Given the description of an element on the screen output the (x, y) to click on. 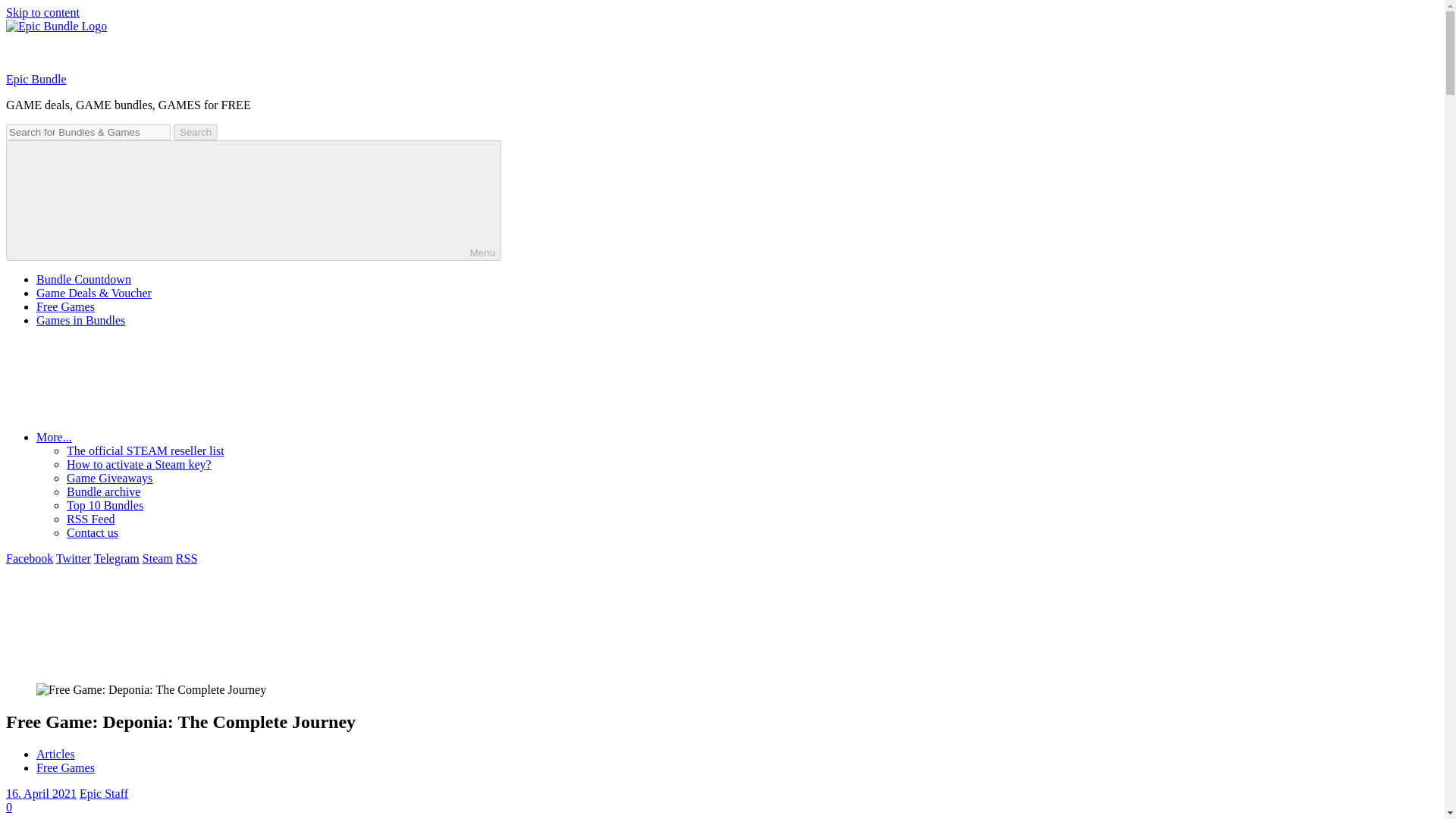
Free Games (65, 767)
Free Games (65, 306)
View all posts by Epic Staff (104, 793)
Search (194, 132)
Skip to content (42, 11)
Game Giveaways (109, 477)
Articles (55, 753)
RSS Feed (90, 518)
How to activate a Steam key? (138, 463)
Games in Bundles (80, 319)
